Given the description of an element on the screen output the (x, y) to click on. 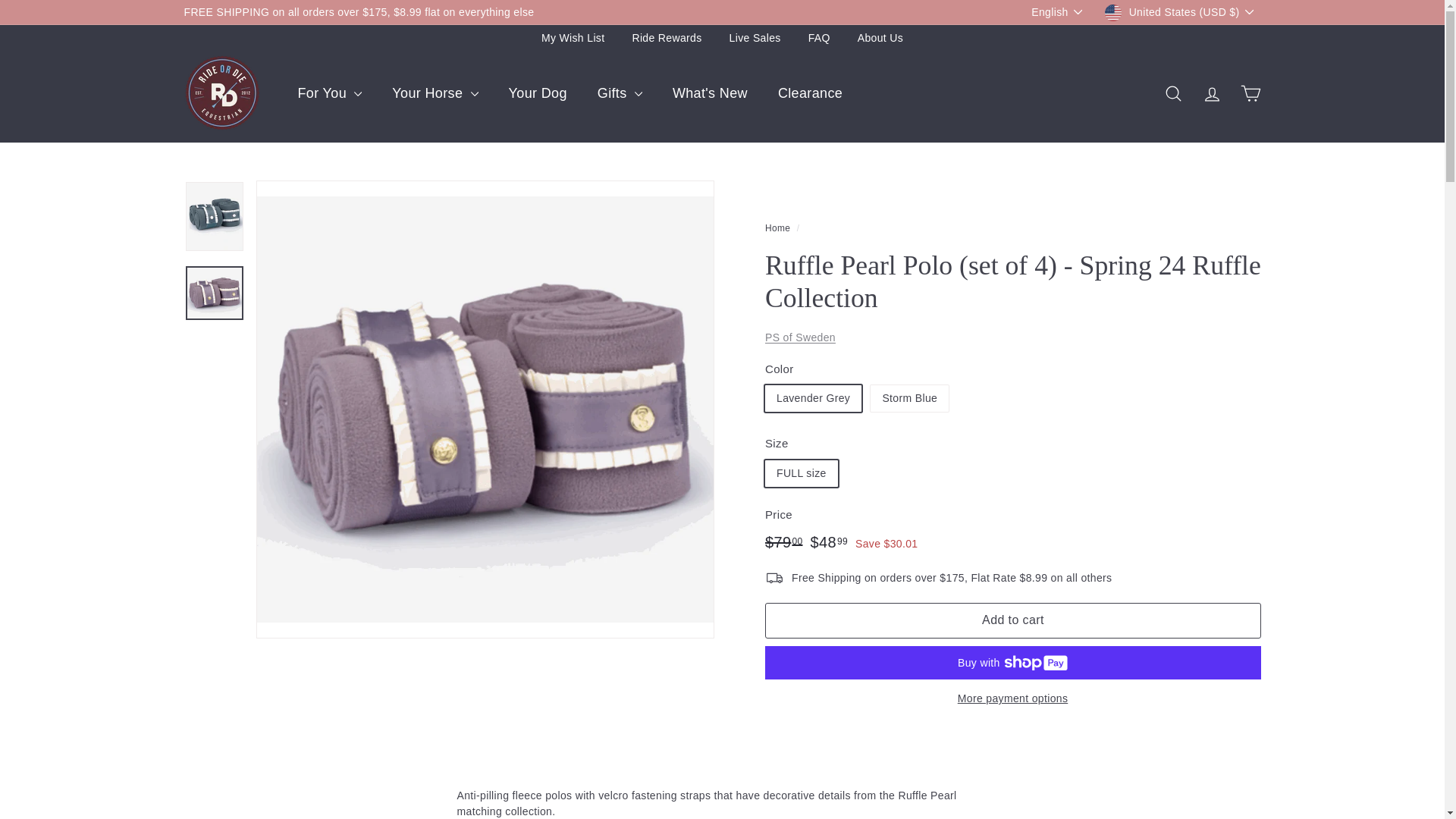
English (1059, 12)
Back to the frontpage (776, 227)
My Wish List (573, 38)
Ride Rewards (666, 38)
